Given the description of an element on the screen output the (x, y) to click on. 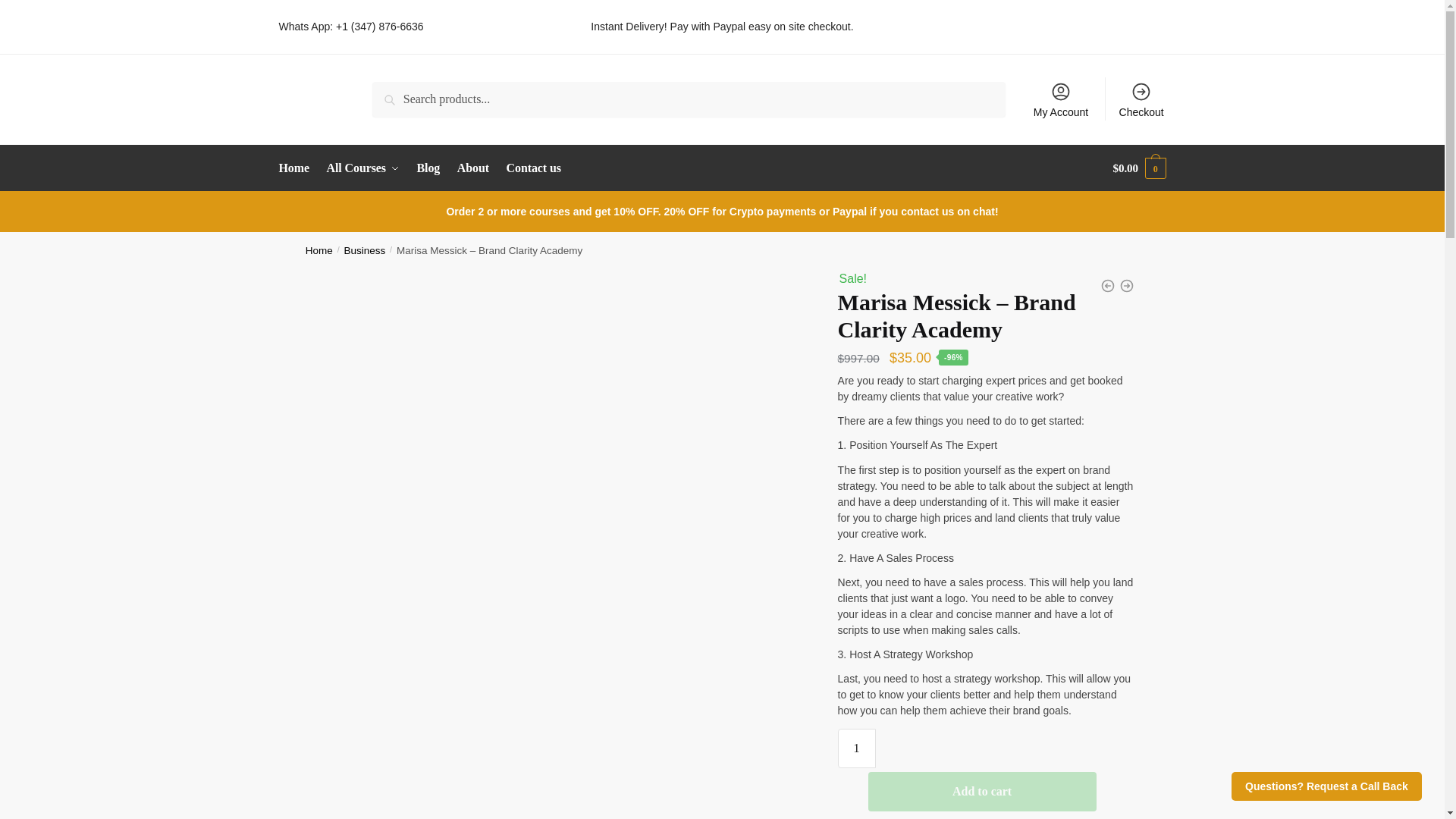
Search (393, 92)
Contact us (533, 167)
My Account (1061, 98)
About (472, 167)
1 (857, 748)
View your shopping cart (1139, 167)
Business (364, 250)
All Courses (363, 167)
Home (319, 250)
Checkout (1141, 98)
